Given the description of an element on the screen output the (x, y) to click on. 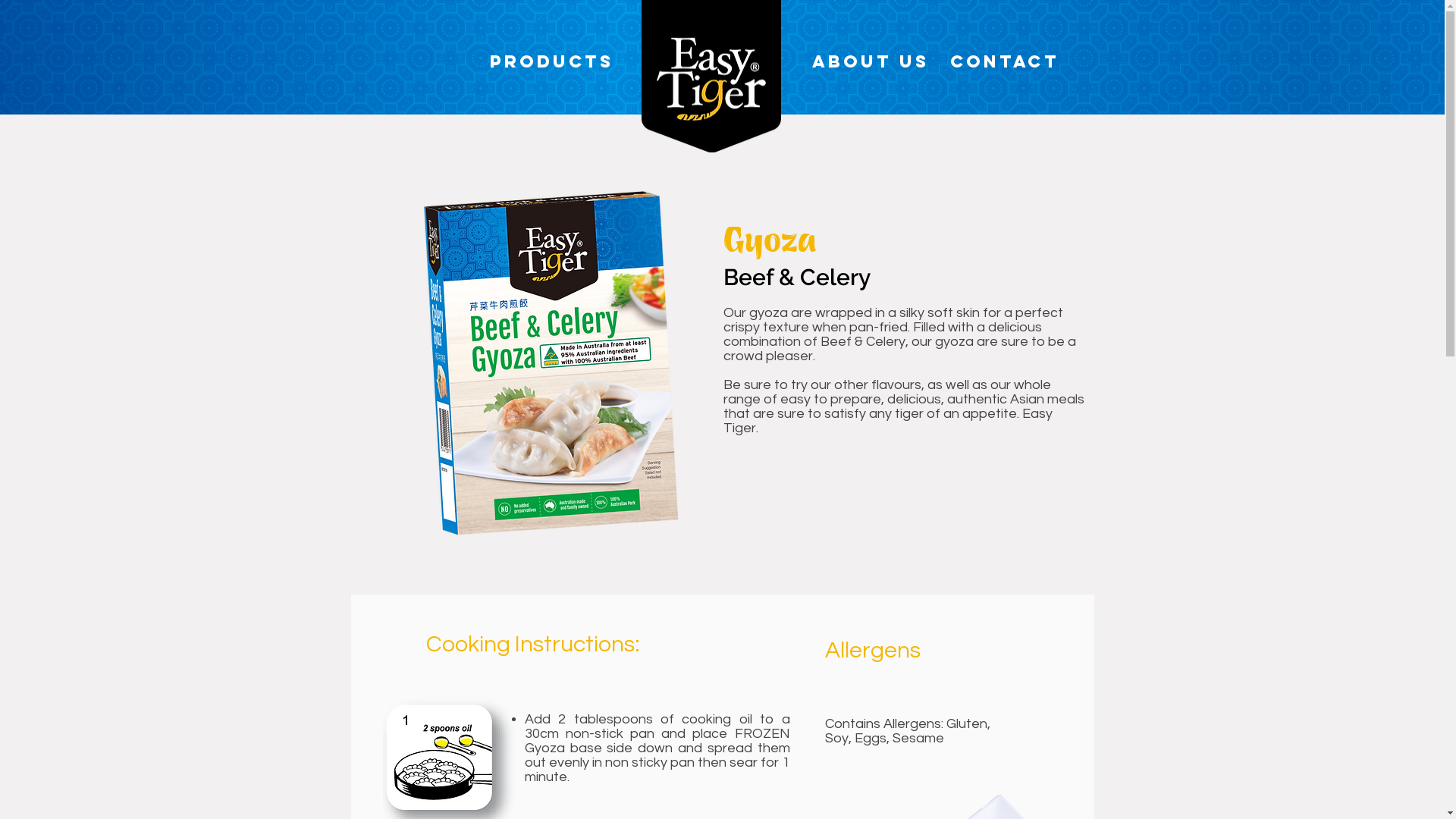
Contact Element type: text (1004, 60)
PRODUCTS Element type: text (551, 60)
ABOUT US Element type: text (869, 60)
